Given the description of an element on the screen output the (x, y) to click on. 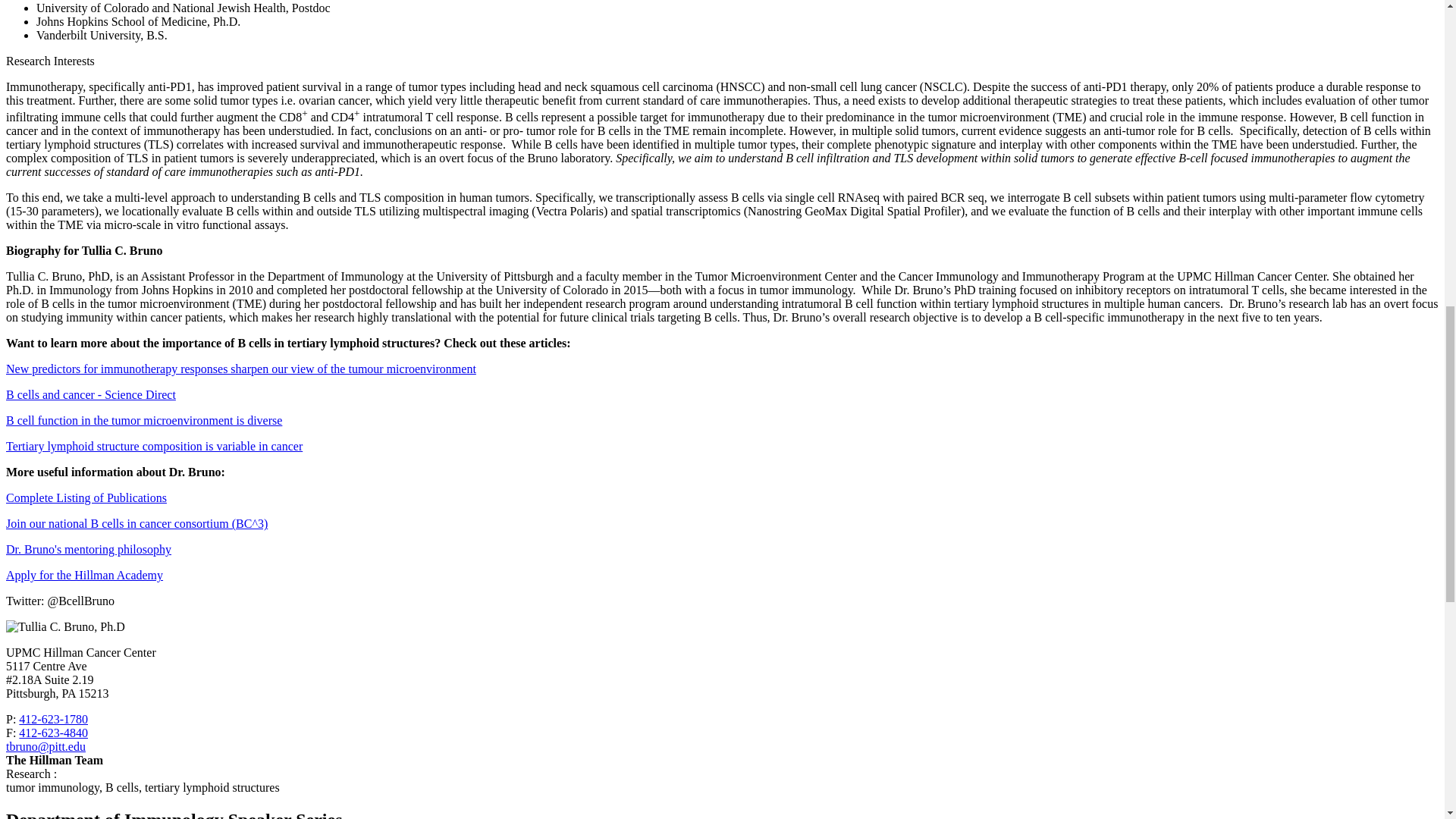
B cells and cancer - Science Direct (90, 394)
Dr. Bruno's mentoring philosophy (88, 549)
Complete Listing of Publications (86, 497)
B cell function in the tumor microenvironment is diverse (143, 420)
